Given the description of an element on the screen output the (x, y) to click on. 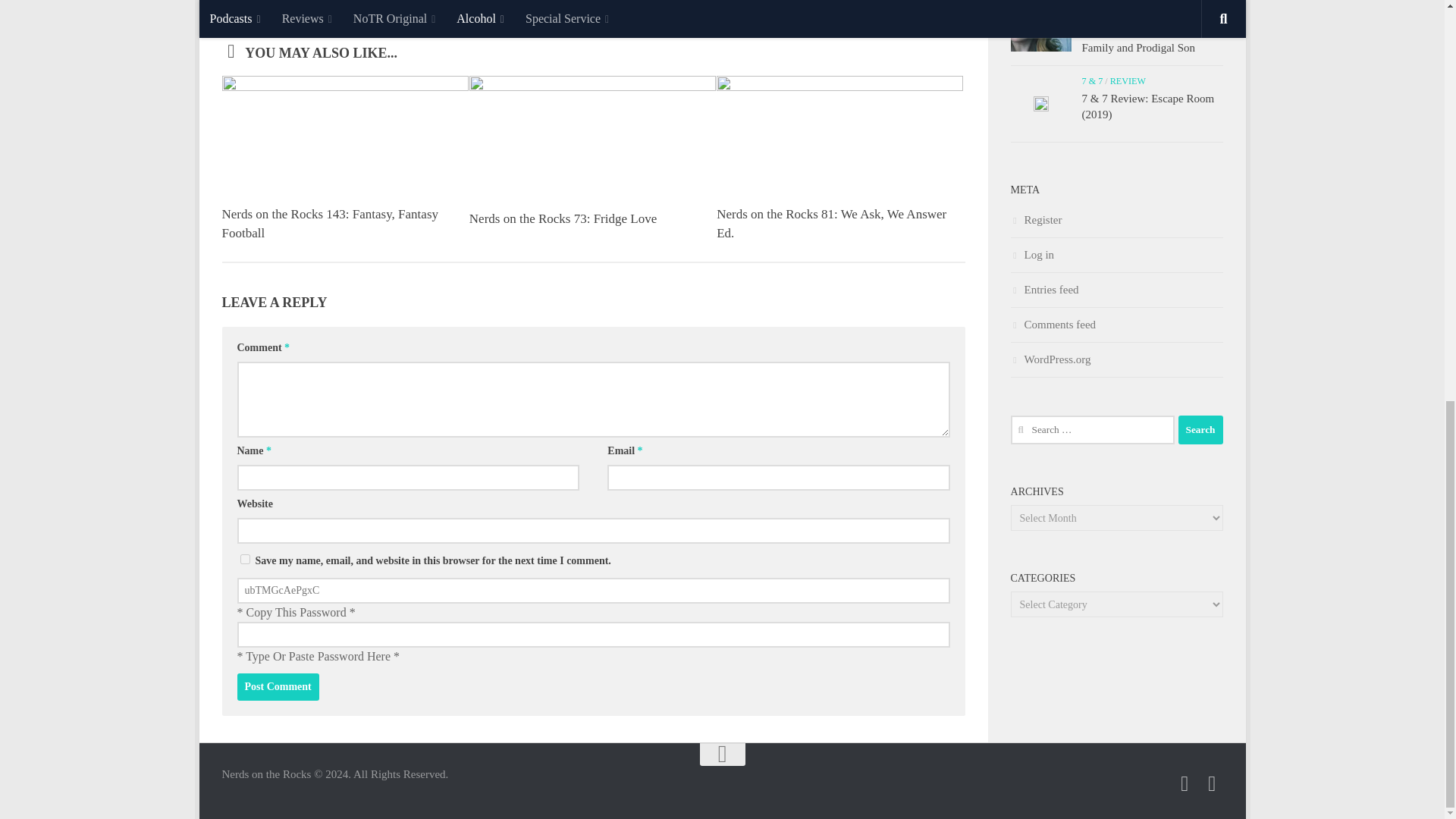
yes (244, 559)
Follow us on Facebook-square (1212, 783)
Post Comment (276, 687)
Follow us on Twitter-square (1184, 783)
Search (1200, 429)
Search (1200, 429)
ubTMGcAePgxC (592, 590)
